Given the description of an element on the screen output the (x, y) to click on. 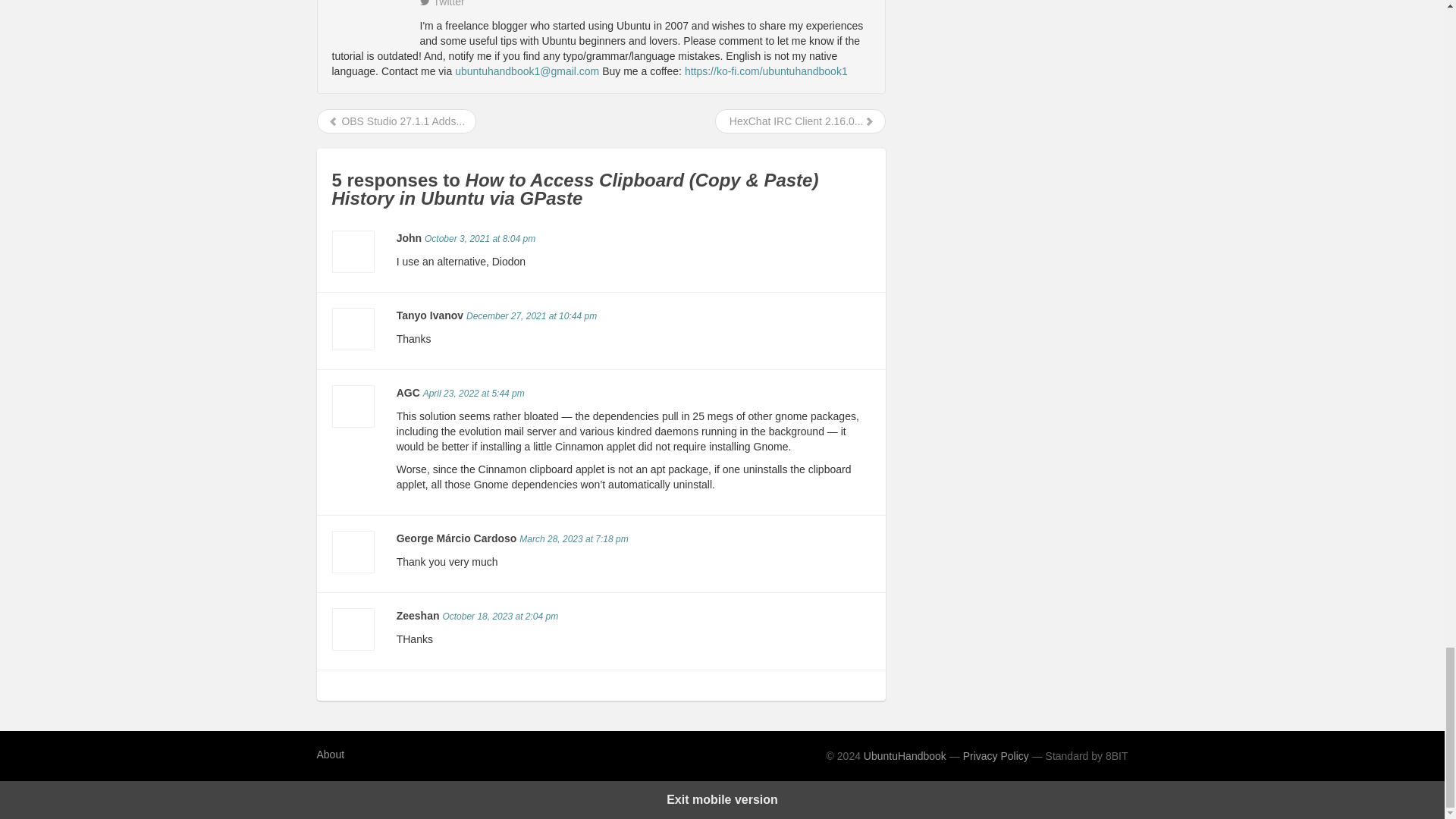
Permalink (499, 615)
 HexChat IRC Client 2.16.0... (800, 121)
 OBS Studio 27.1.1 Adds... (395, 121)
Permalink (530, 316)
Permalink (573, 538)
Permalink (473, 393)
Twitter (442, 3)
Permalink (480, 238)
